Given the description of an element on the screen output the (x, y) to click on. 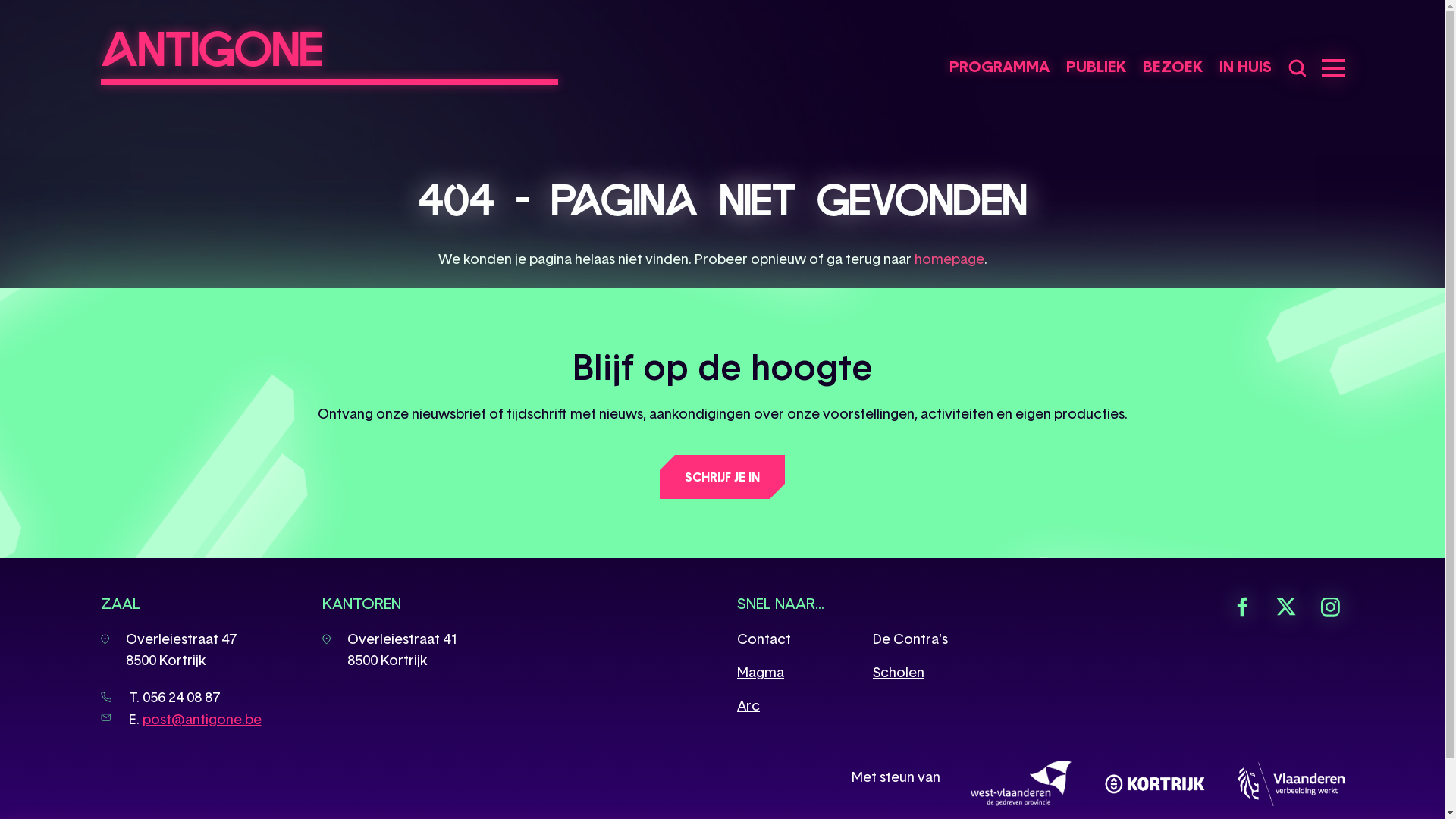
facebook Element type: hover (1240, 606)
SCHRIJF JE IN Element type: text (721, 476)
twitter Element type: hover (1284, 606)
homepage Element type: text (949, 258)
056 24 08 87 Element type: text (180, 696)
Scholen Element type: text (898, 671)
Arc Element type: text (748, 705)
ANTIGONE Element type: text (328, 47)
Zoeken Element type: hover (1296, 68)
Vlaanderen Element type: hover (1290, 783)
Kortrijk Element type: hover (1154, 783)
PROGRAMMA Element type: text (999, 69)
IN HUIS Element type: text (1245, 69)
Magma Element type: text (760, 671)
PUBLIEK Element type: text (1096, 69)
post@antigone.be Element type: text (201, 718)
De Contra's Element type: text (909, 638)
West-Vlaanderen Element type: hover (1020, 783)
BEZOEK Element type: text (1171, 69)
Contact Element type: text (763, 638)
instagram Element type: hover (1328, 606)
